Given the description of an element on the screen output the (x, y) to click on. 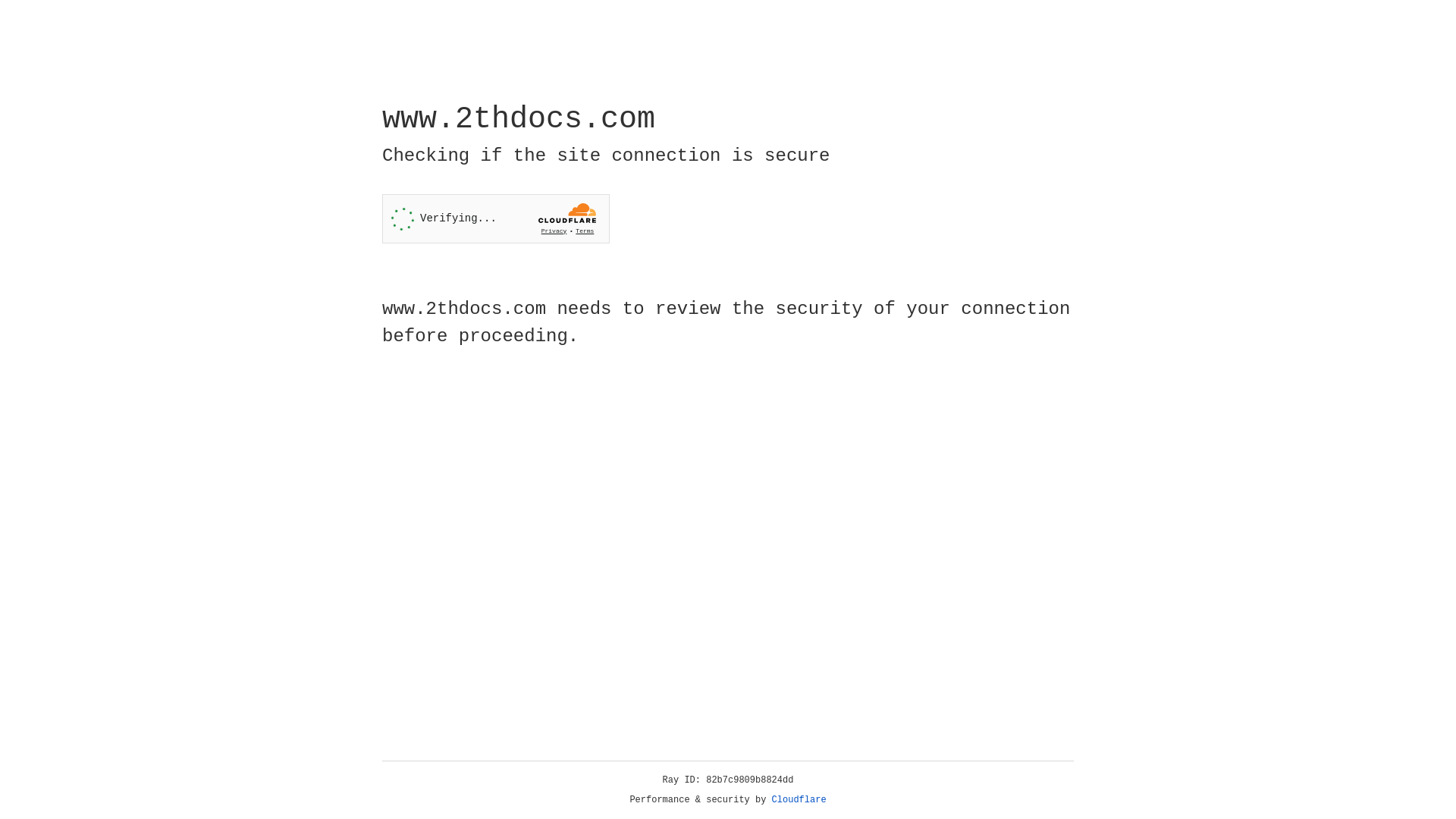
Cloudflare Element type: text (798, 799)
Widget containing a Cloudflare security challenge Element type: hover (495, 218)
